Given the description of an element on the screen output the (x, y) to click on. 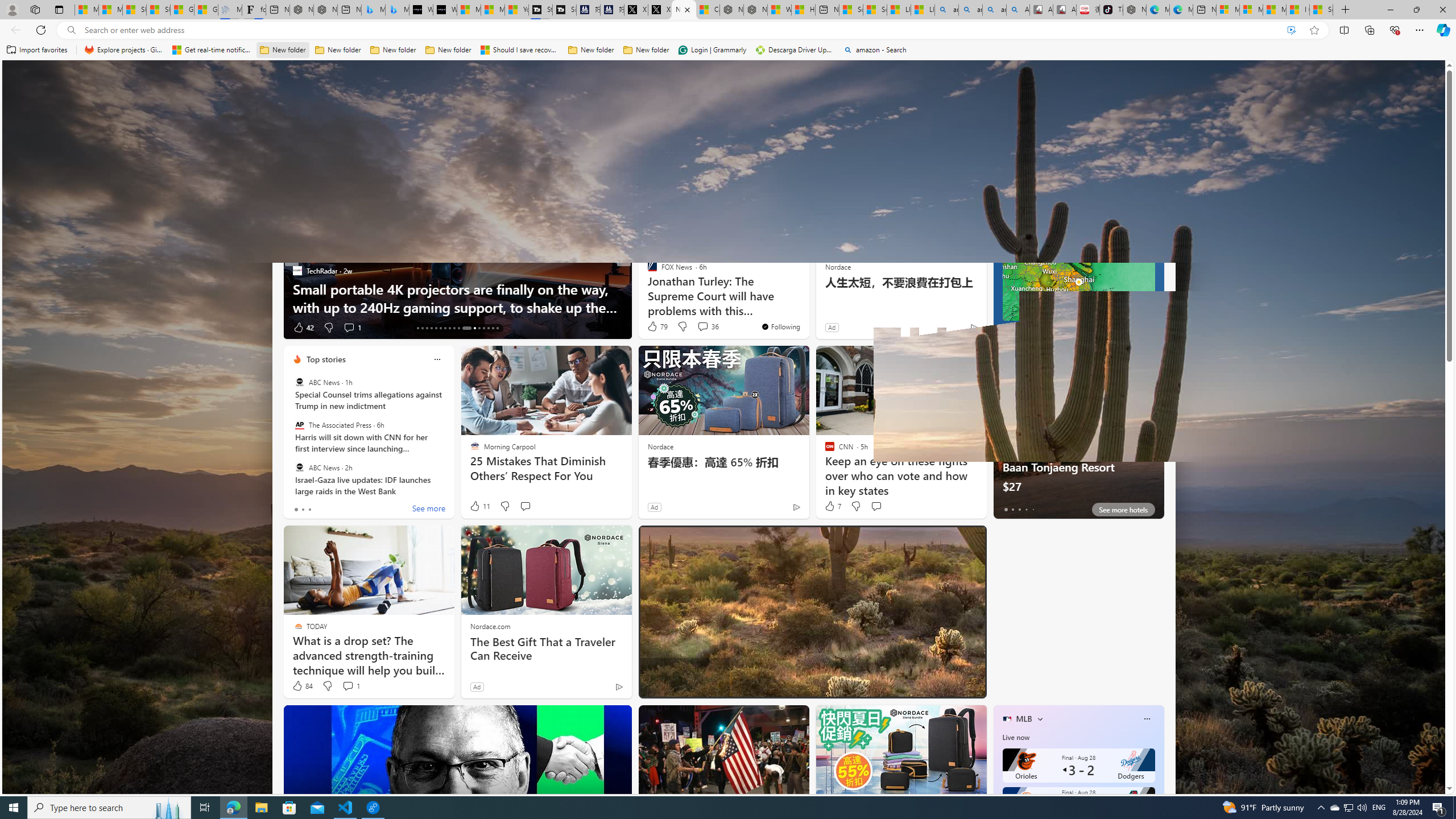
Microsoft Bing Travel - Stays in Bangkok, Bangkok, Thailand (373, 9)
101 Like (658, 685)
Microsoft Start Sports (469, 9)
App bar (728, 29)
See more (428, 509)
